Given the description of an element on the screen output the (x, y) to click on. 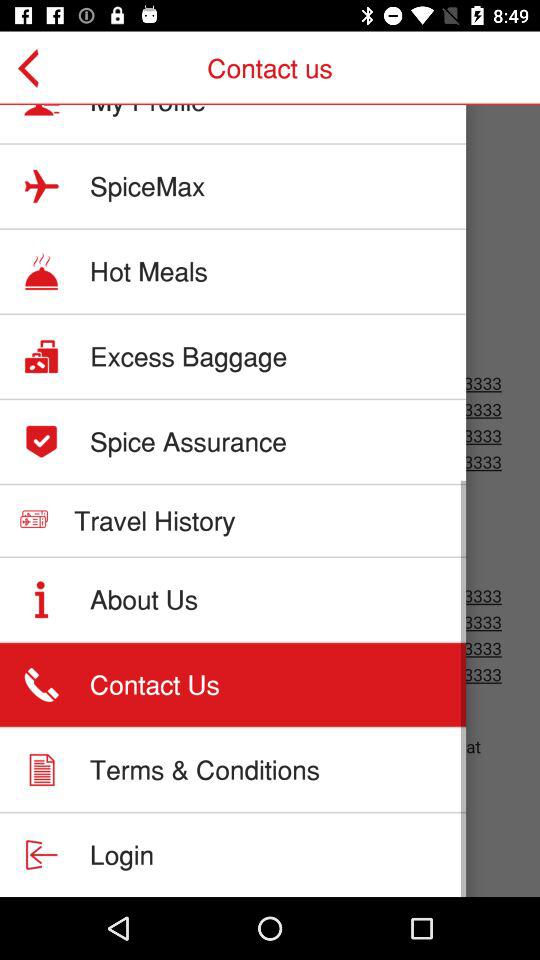
jump until travel history item (154, 520)
